Given the description of an element on the screen output the (x, y) to click on. 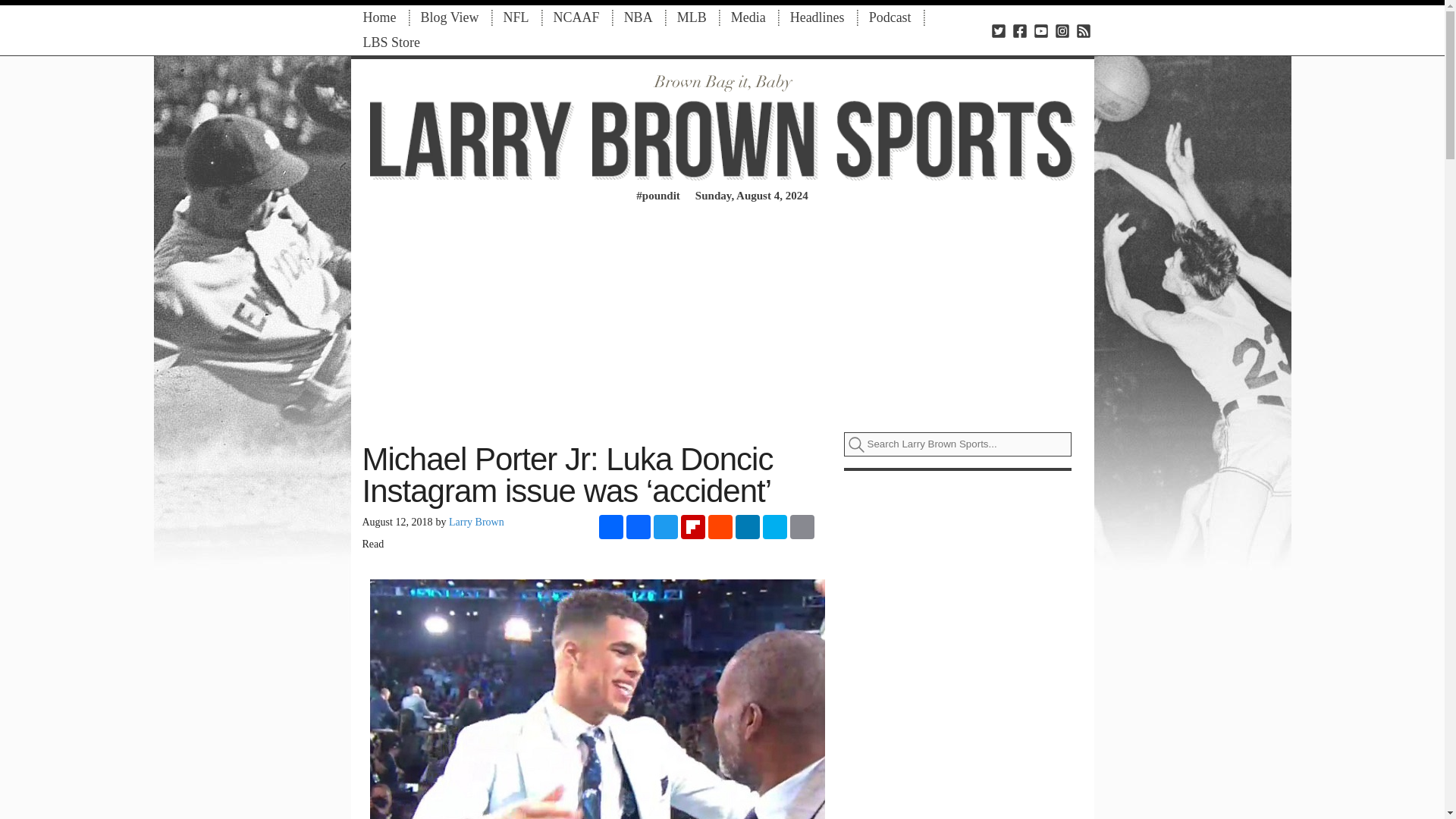
NCAAF (576, 17)
View Larry Brown Sports Twitter (998, 29)
View Larry Brown Sports Facebook (1018, 29)
Twitter (665, 526)
Home (378, 17)
Subscribe to Larry Brown Sports RSS Feed (1082, 29)
View Larry Brown Sports Youtube (1040, 29)
View Larry Brown Sports Instagram (1061, 29)
Share (610, 526)
Larry Brown (475, 521)
Headlines (817, 17)
MLB (692, 17)
Flipboard (692, 526)
Blog View (448, 17)
Podcast (890, 17)
